Given the description of an element on the screen output the (x, y) to click on. 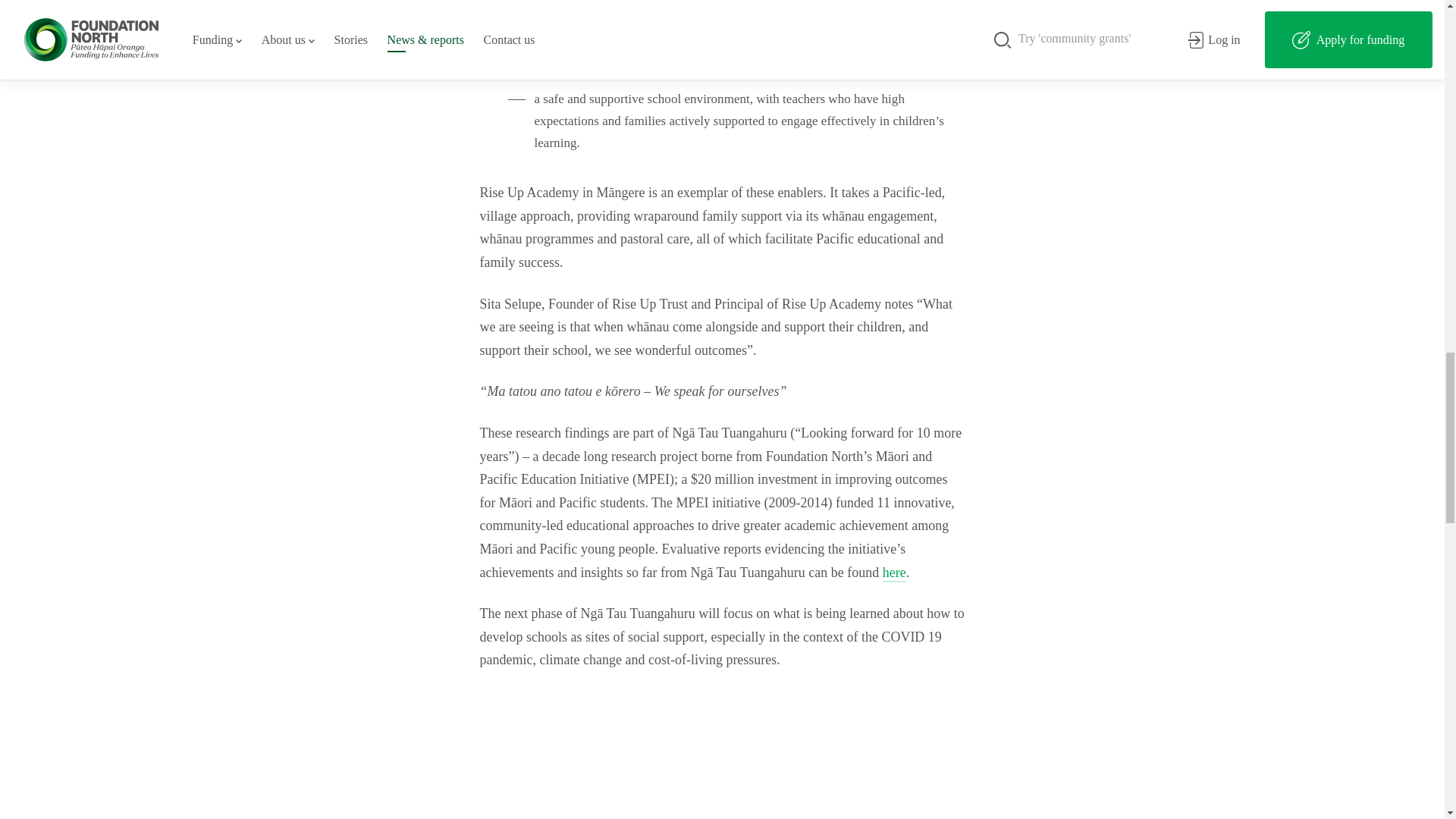
here (893, 574)
